Given the description of an element on the screen output the (x, y) to click on. 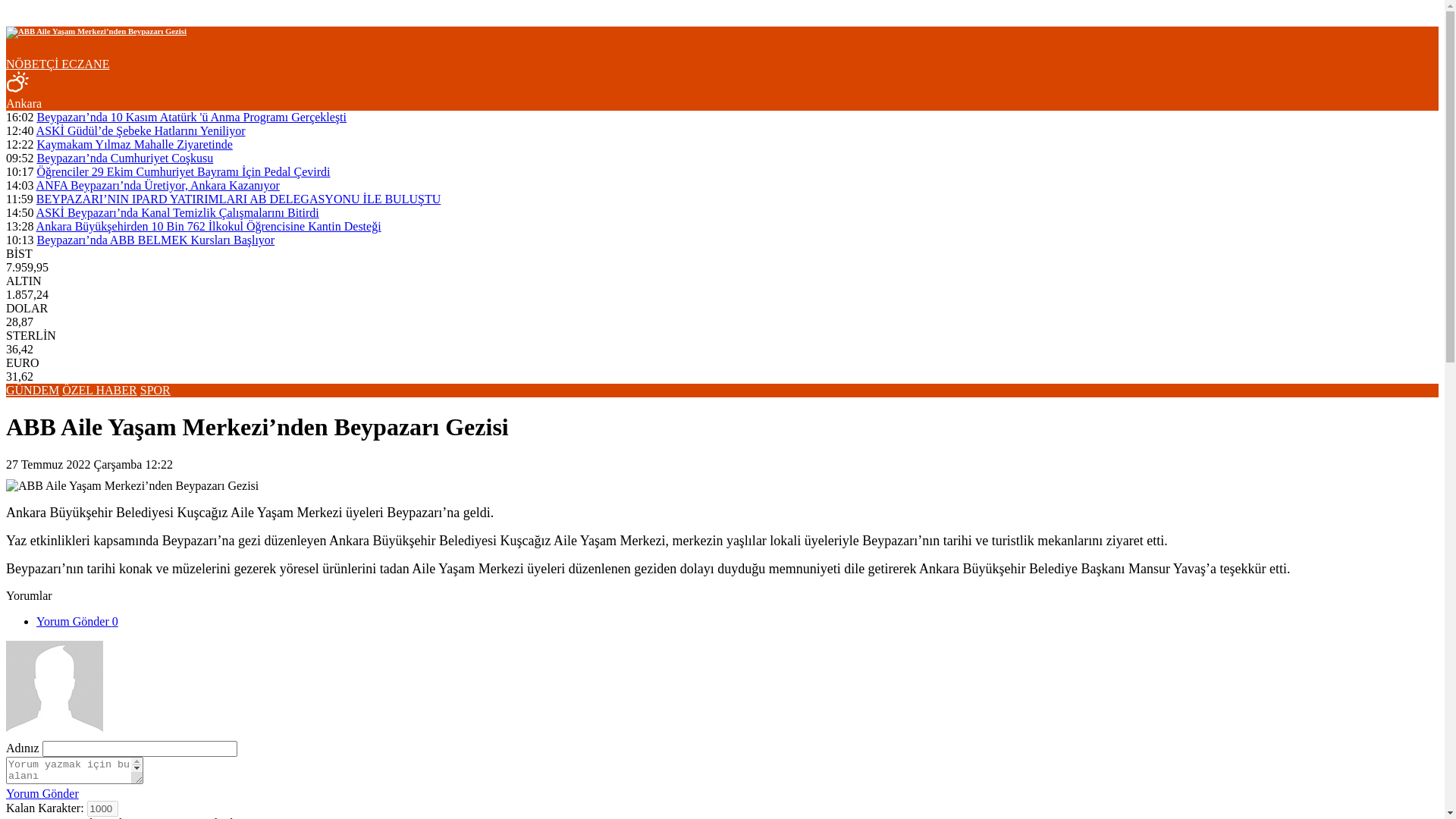
Ad soyad gerekli! Element type: hover (139, 748)
SPOR Element type: text (155, 389)
